Given the description of an element on the screen output the (x, y) to click on. 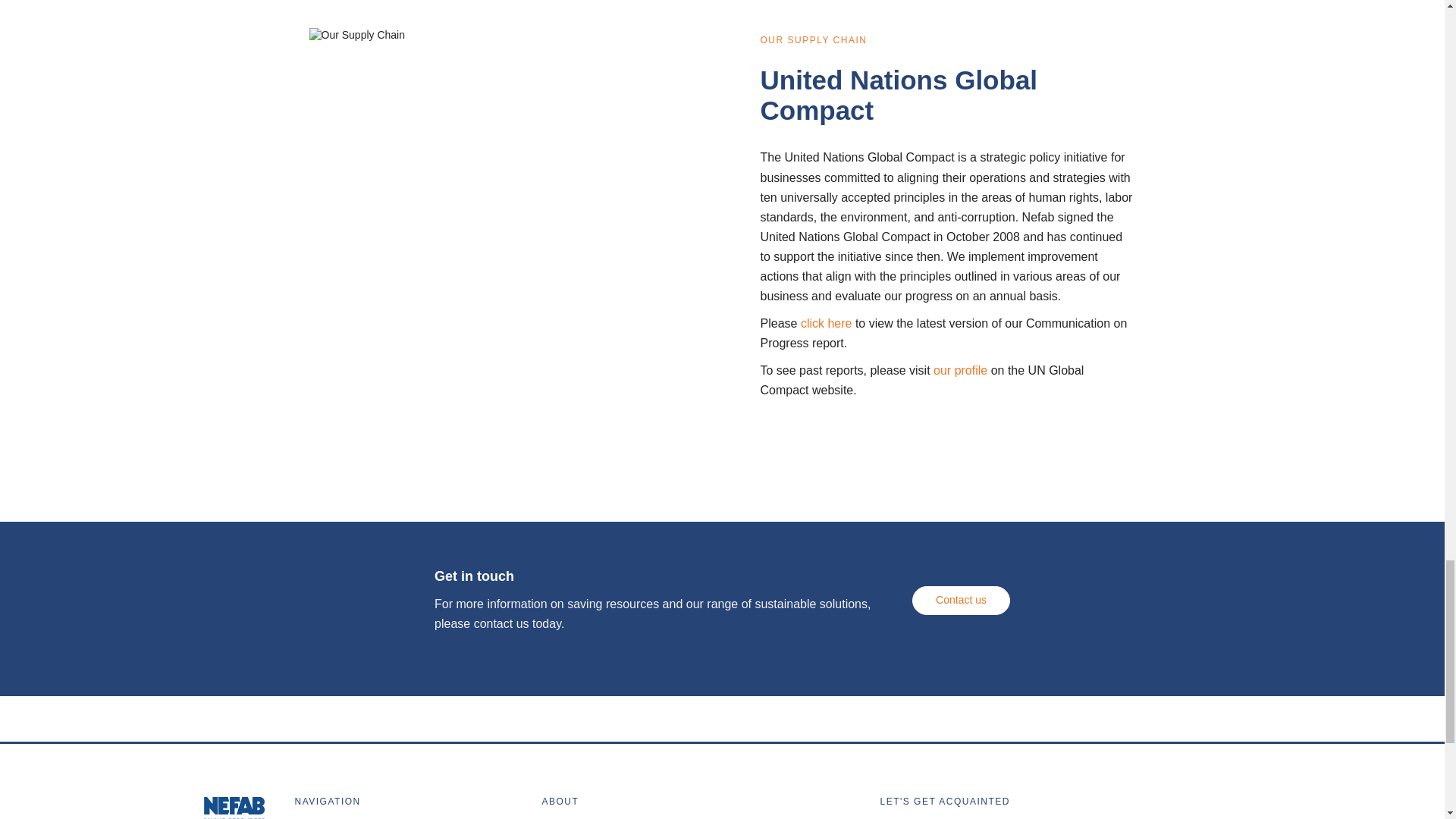
Communication on Progress 2021 (825, 323)
Global Compact (960, 369)
